Given the description of an element on the screen output the (x, y) to click on. 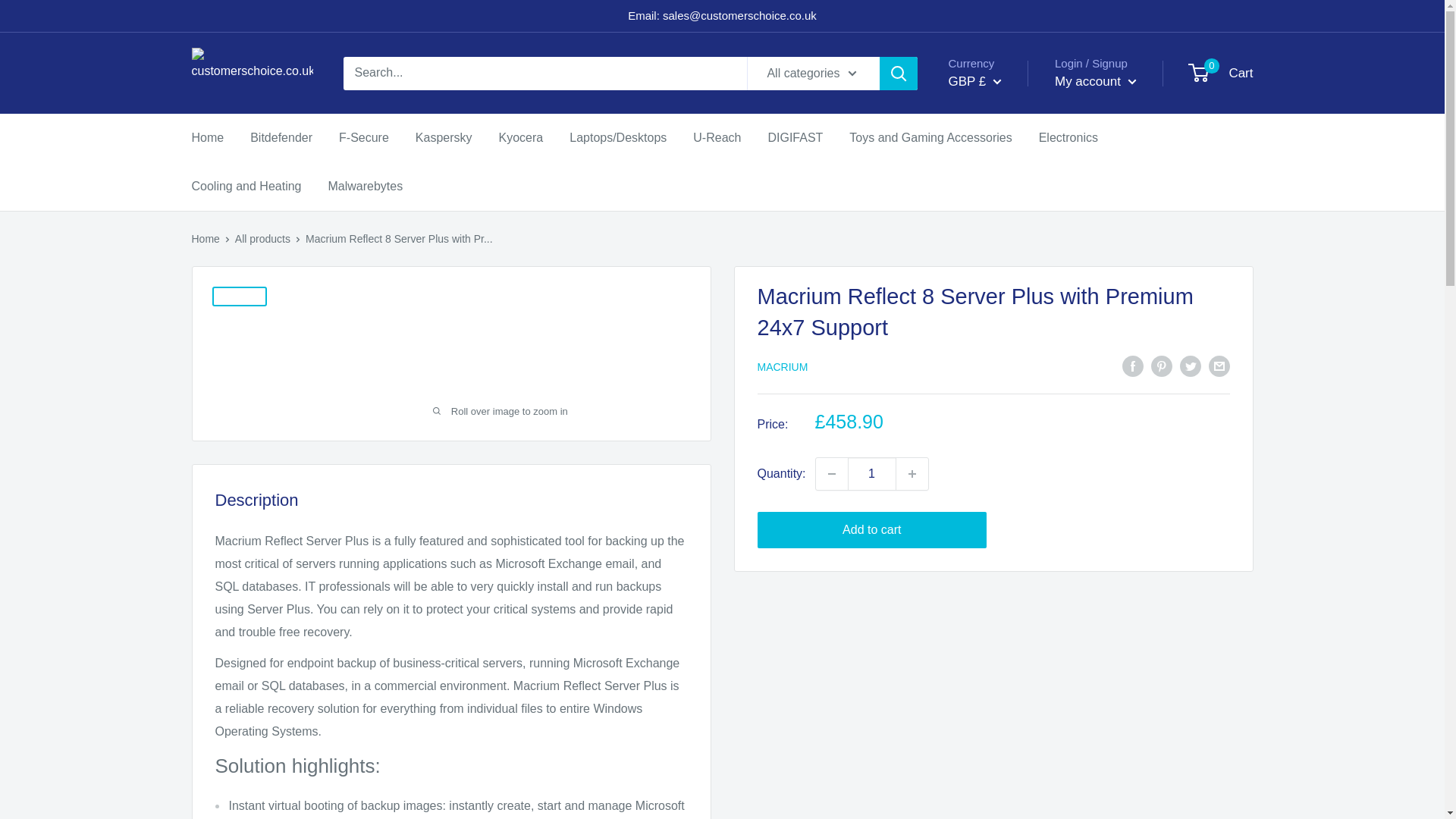
ISK (997, 348)
1 (871, 473)
RON (997, 418)
DKK (997, 256)
HUF (997, 325)
My account (1095, 81)
EUR (997, 279)
RSD (997, 441)
CHF (997, 209)
MDL (997, 371)
ALL (997, 140)
PLN (997, 394)
UAH (997, 487)
Decrease quantity by 1 (831, 473)
GBP (997, 302)
